Given the description of an element on the screen output the (x, y) to click on. 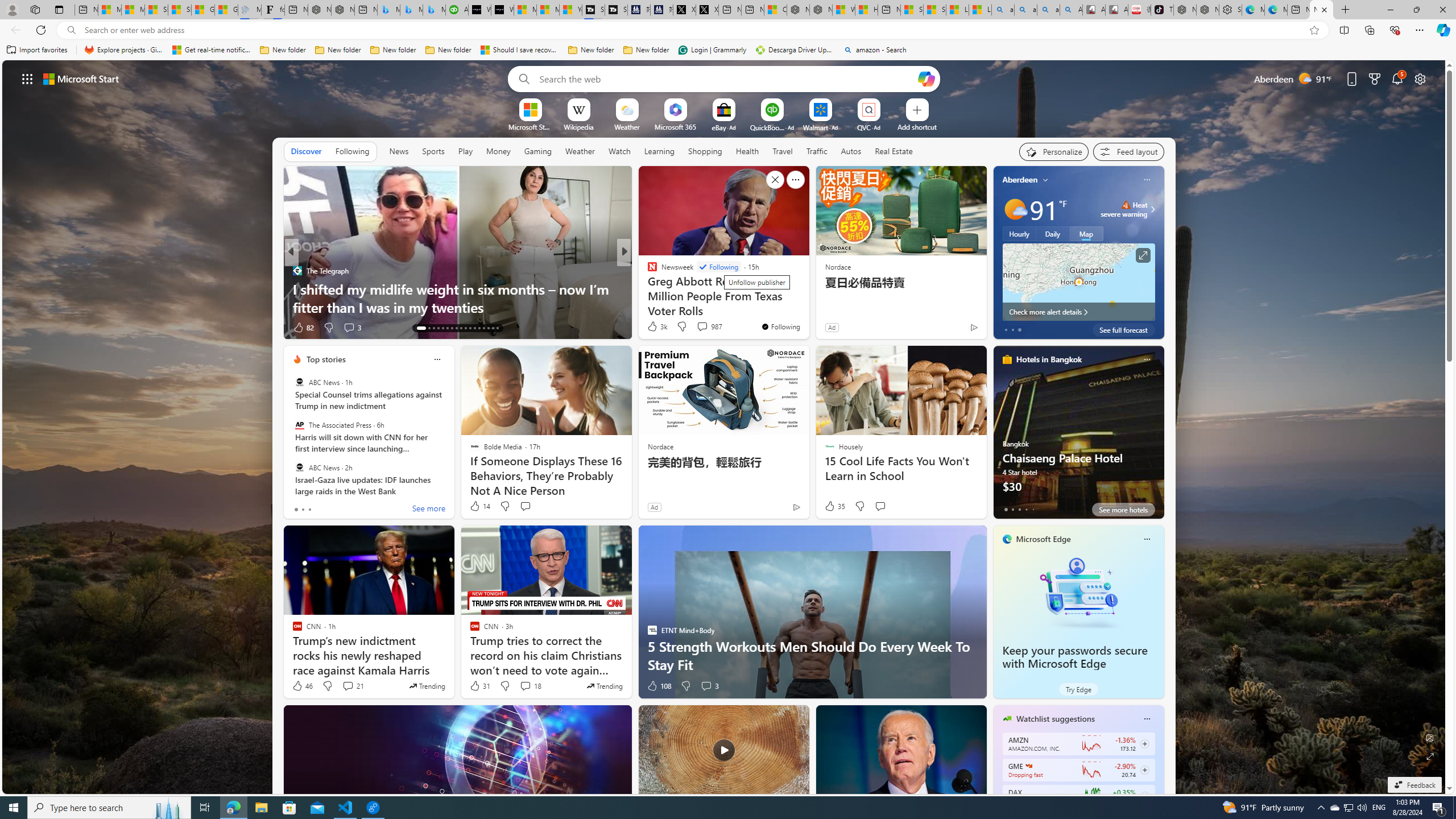
31 Like (479, 685)
View comments 3 Comment (709, 685)
See full forecast (1123, 329)
The Daily Beast (647, 270)
Map (1085, 233)
AutomationID: tab-16 (438, 328)
Chaisaeng Palace Hotel (1078, 436)
View comments 52 Comment (698, 327)
